Given the description of an element on the screen output the (x, y) to click on. 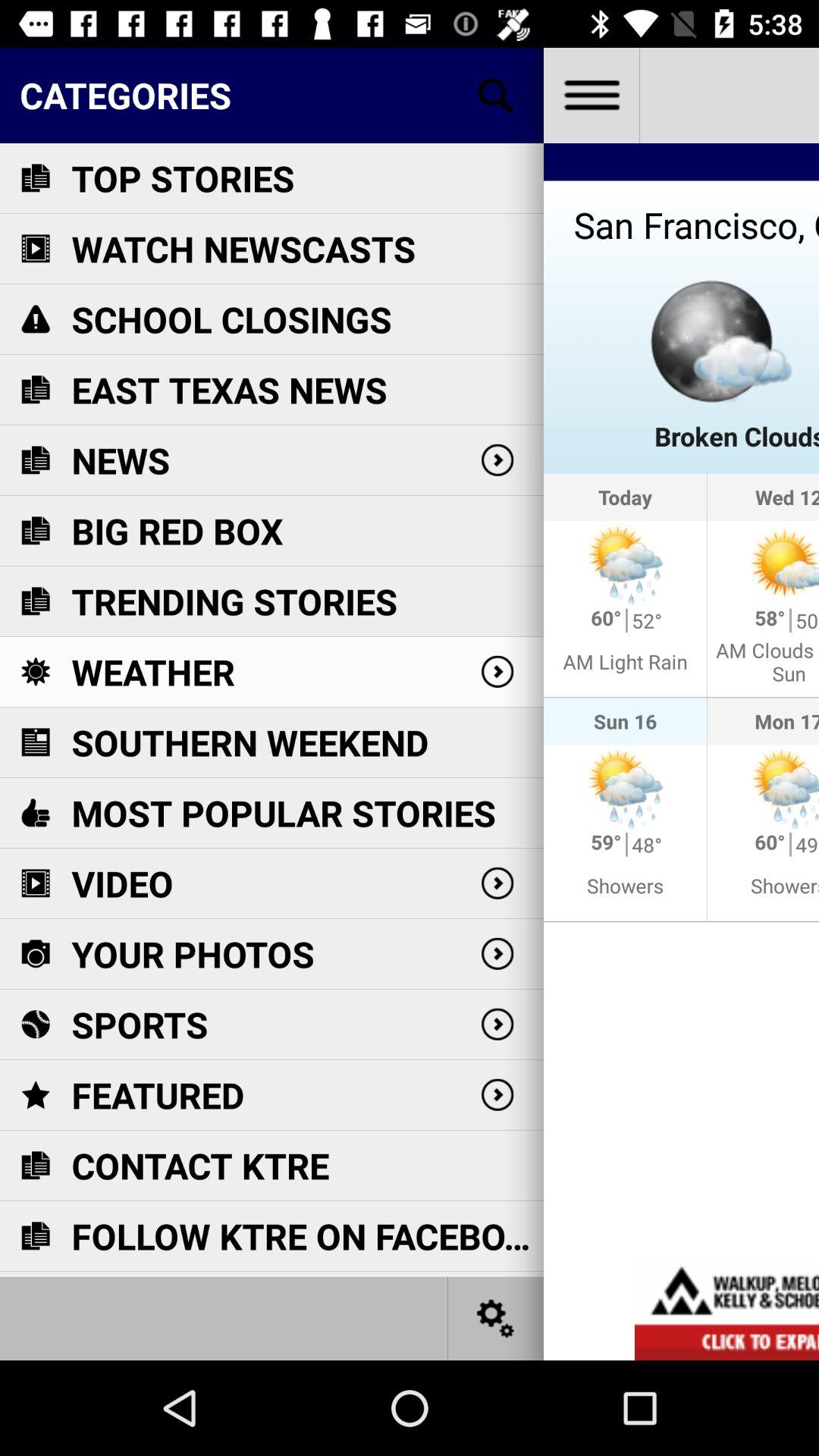
profile to be view (591, 95)
